Given the description of an element on the screen output the (x, y) to click on. 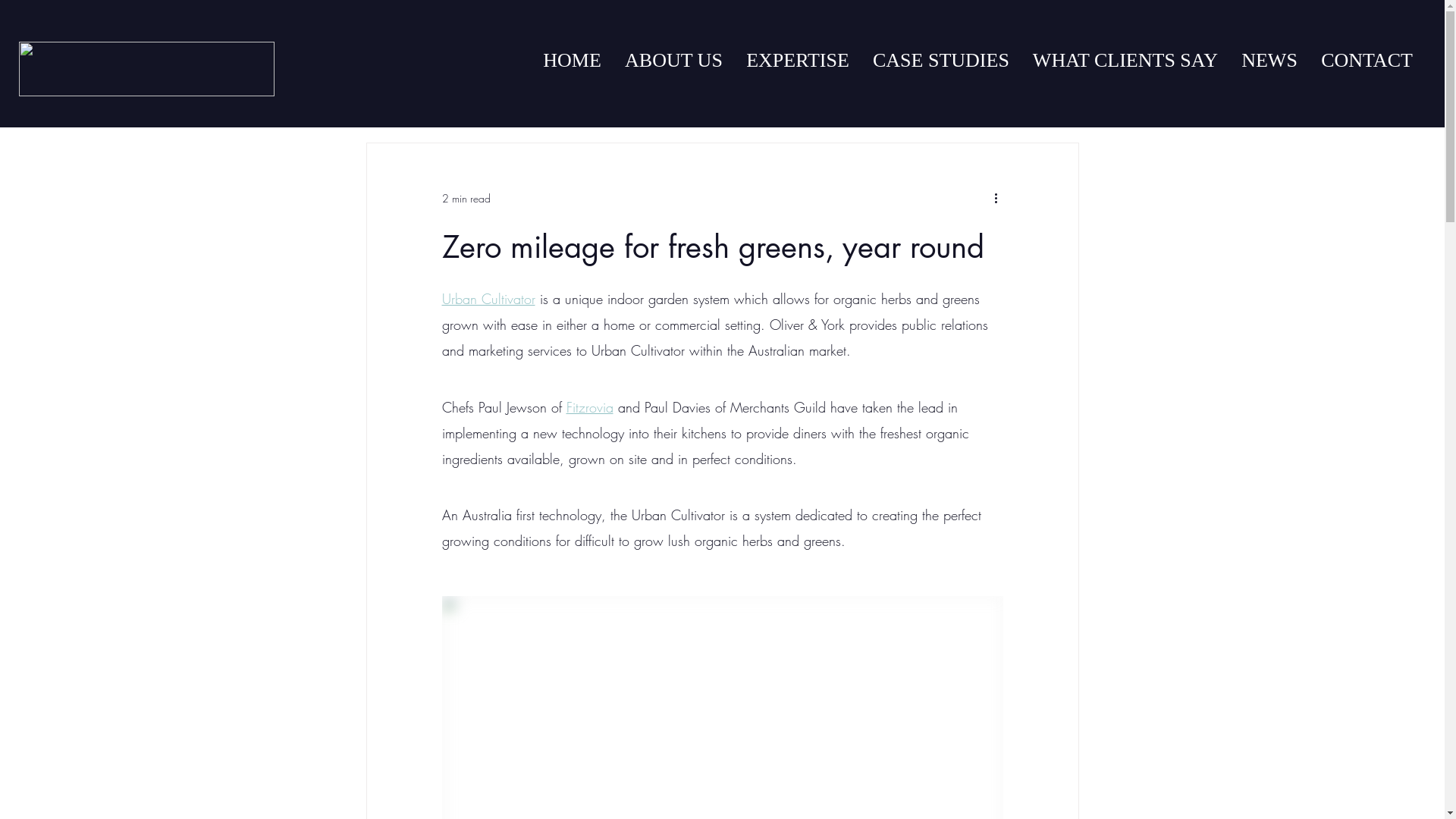
NEWS Element type: text (1268, 60)
EXPERTISE Element type: text (797, 60)
HOME Element type: text (571, 60)
Fitzrovia Element type: text (588, 407)
CASE STUDIES Element type: text (940, 60)
Urban Cultivator Element type: text (487, 298)
ABOUT US Element type: text (673, 60)
WHAT CLIENTS SAY Element type: text (1124, 60)
CONTACT Element type: text (1366, 60)
